Given the description of an element on the screen output the (x, y) to click on. 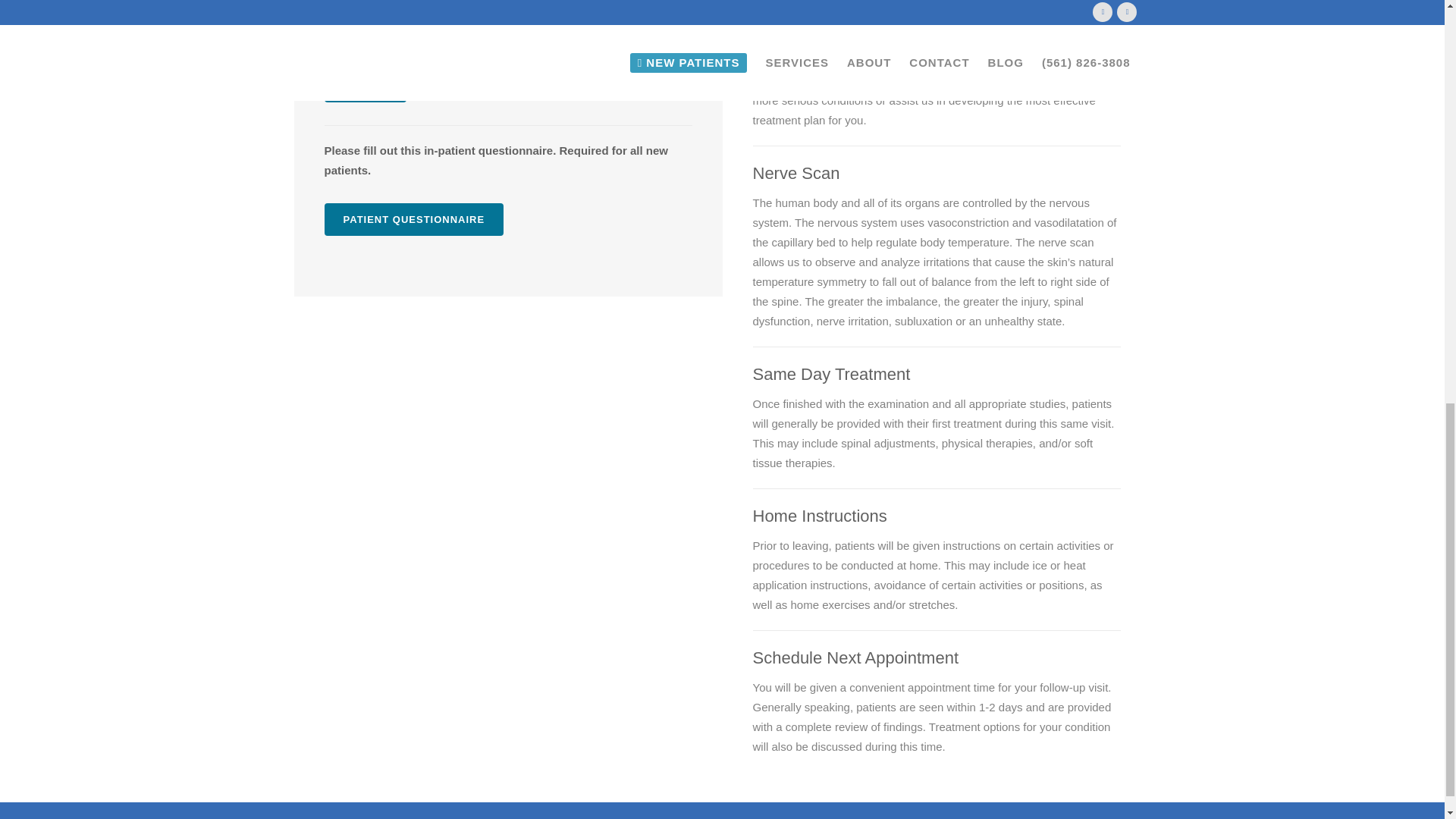
Submit (365, 87)
